Given the description of an element on the screen output the (x, y) to click on. 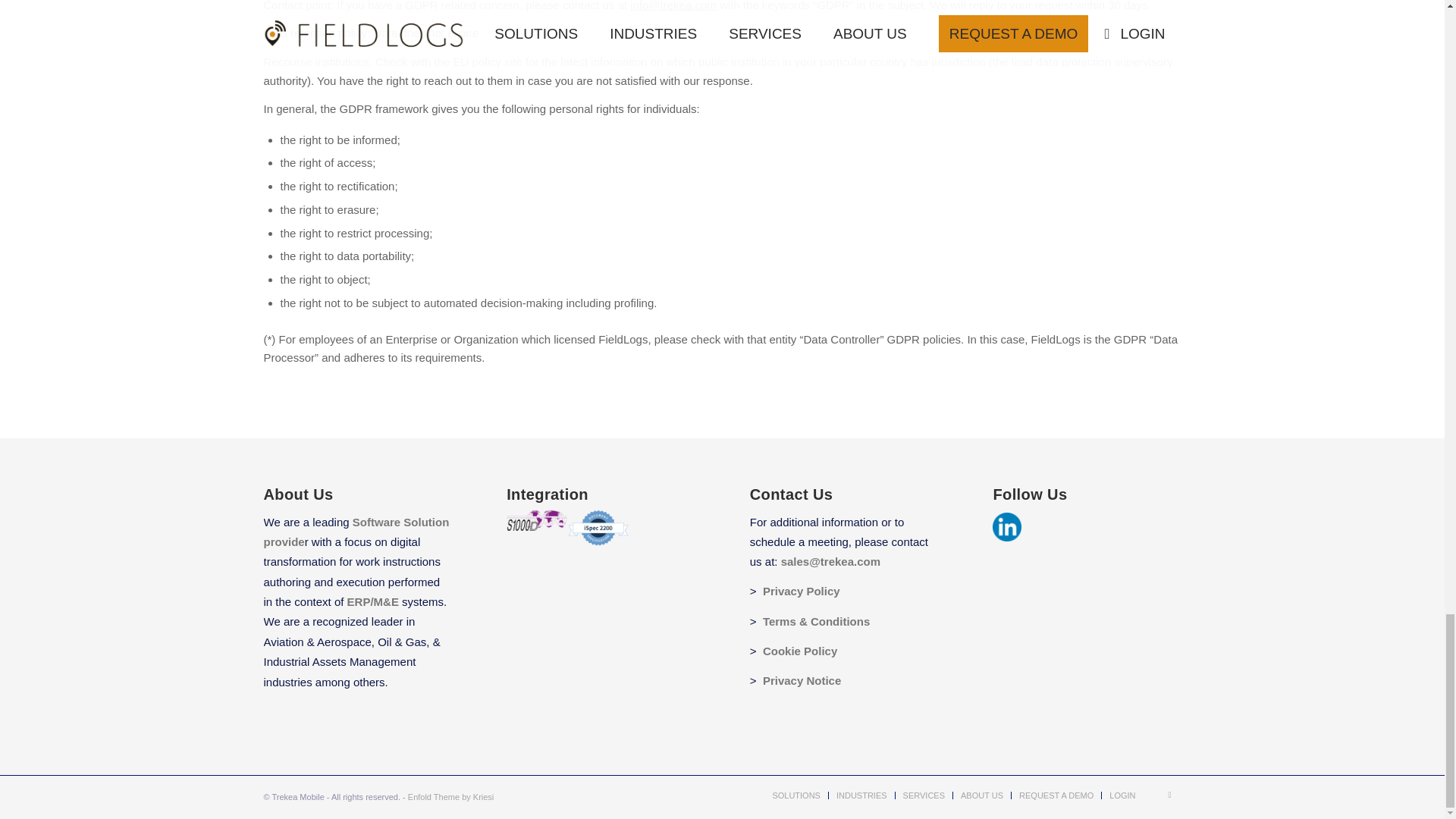
LinkedIn (1169, 793)
REQUEST A DEMO (1056, 795)
Cookie Policy (799, 650)
Privacy Notice (801, 680)
Privacy Policy (801, 590)
Enfold Theme by Kriesi (451, 796)
SERVICES (923, 795)
SOLUTIONS (796, 795)
INDUSTRIES (860, 795)
ABOUT US (981, 795)
LOGIN (1122, 795)
